Given the description of an element on the screen output the (x, y) to click on. 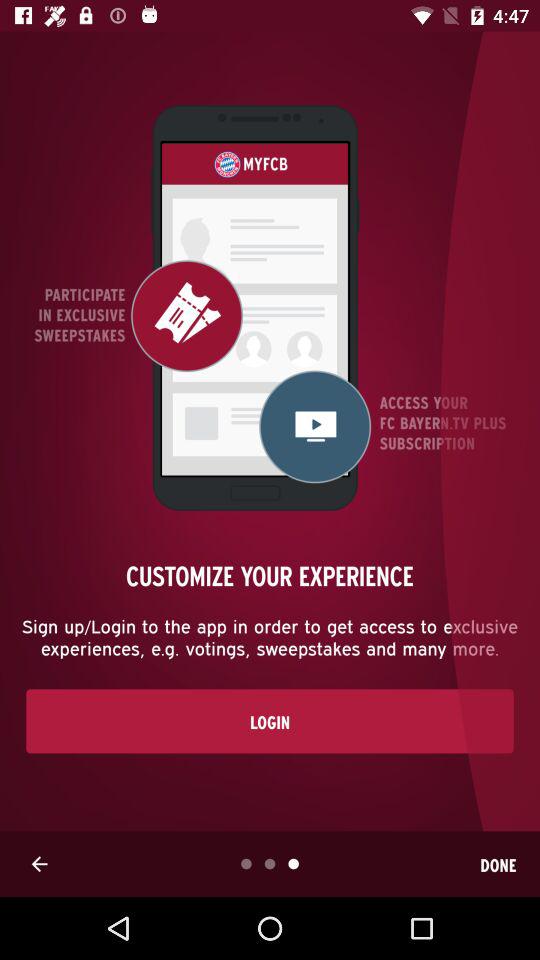
choose item below the login (498, 864)
